Given the description of an element on the screen output the (x, y) to click on. 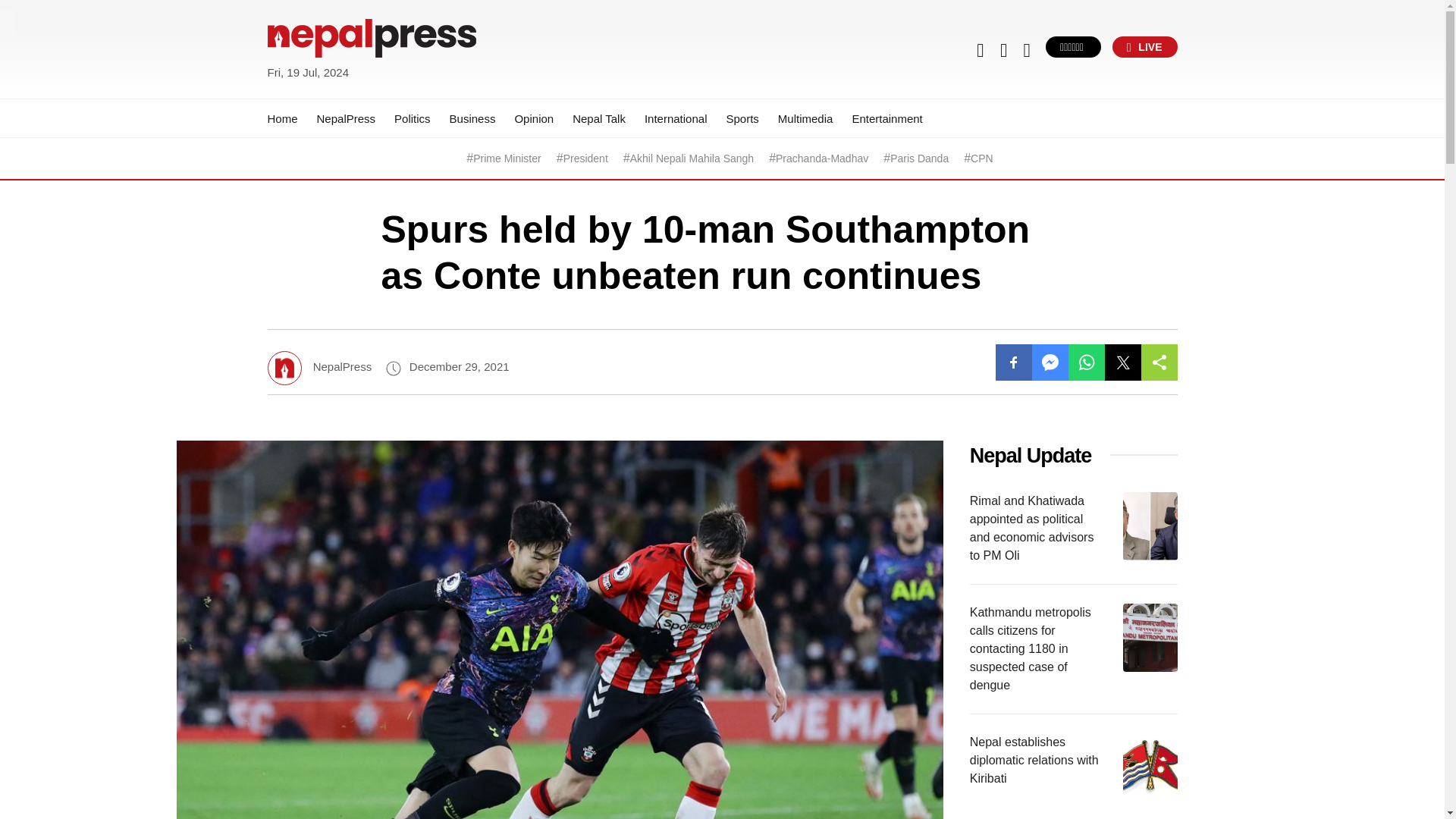
Prachanda-Madhav (821, 158)
Nepal Talk (599, 118)
Prachanda-Madhav (821, 158)
Politics (412, 118)
CPN (981, 158)
International (676, 118)
Akhil Nepali Mahila Sangh (692, 158)
Nepal Press (303, 91)
Paris Danda (919, 158)
Prime Minister (506, 158)
Opinion (533, 118)
LIVE (1144, 46)
President (585, 158)
Business (472, 118)
Multimedia (804, 118)
